Given the description of an element on the screen output the (x, y) to click on. 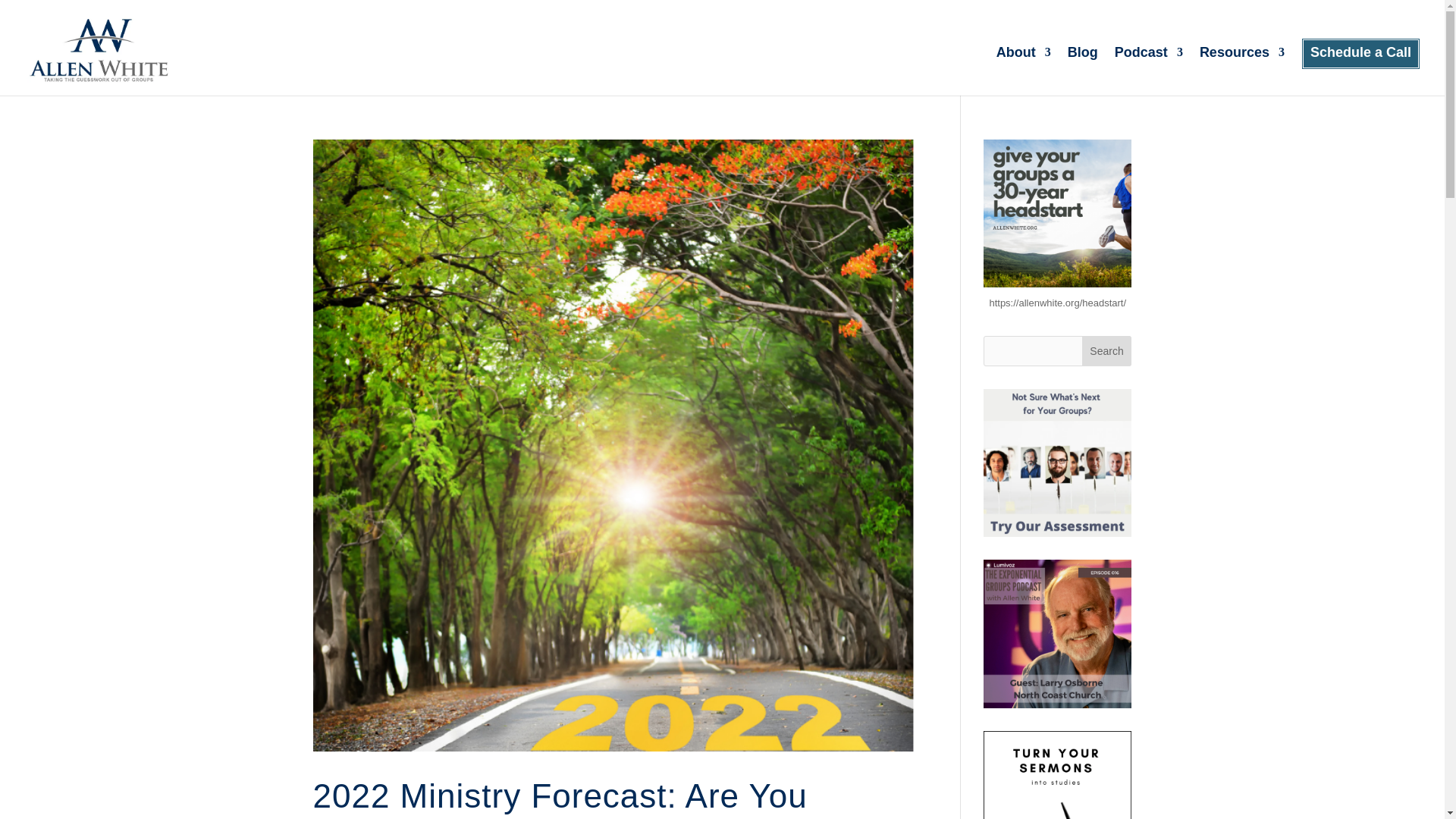
Schedule a Call (1360, 70)
Resources (1241, 70)
Podcast (1148, 70)
About (1023, 70)
